Given the description of an element on the screen output the (x, y) to click on. 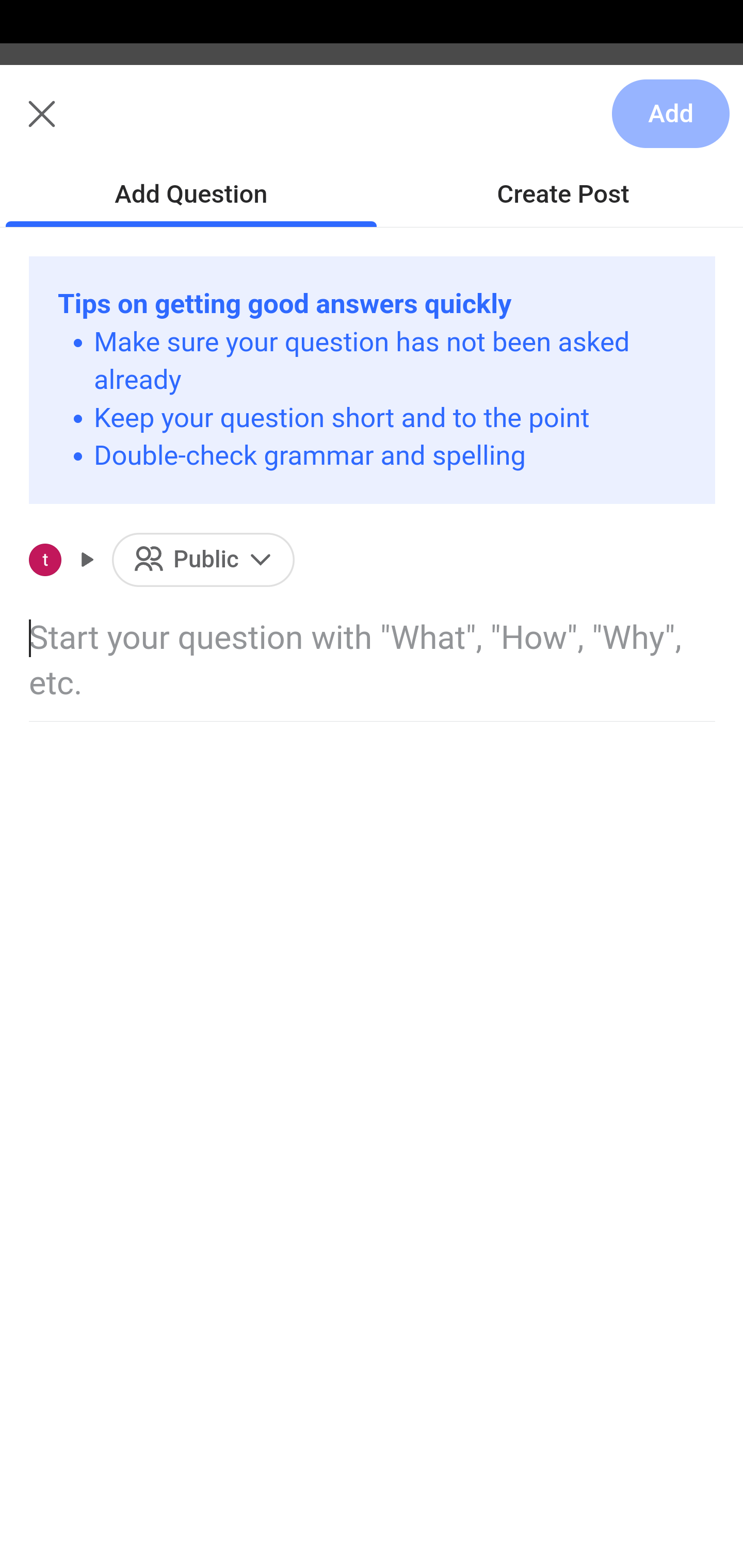
Me Home Search Add (371, 125)
Me (64, 125)
